Given the description of an element on the screen output the (x, y) to click on. 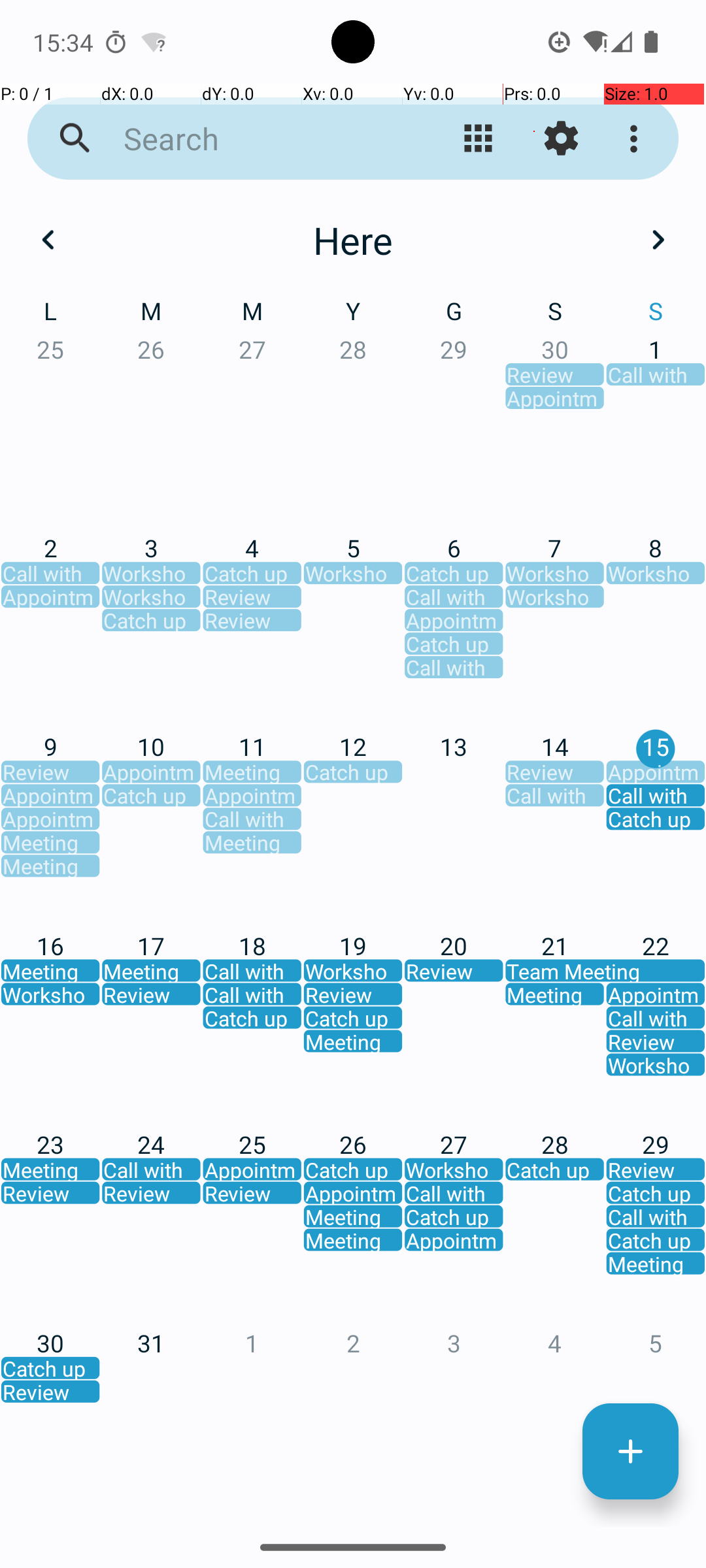
Kemmañ ar gwel Element type: android.widget.Button (477, 138)
Darvoud nevez Element type: android.widget.ImageButton (630, 1451)
Here Element type: android.widget.TextView (352, 239)
